Given the description of an element on the screen output the (x, y) to click on. 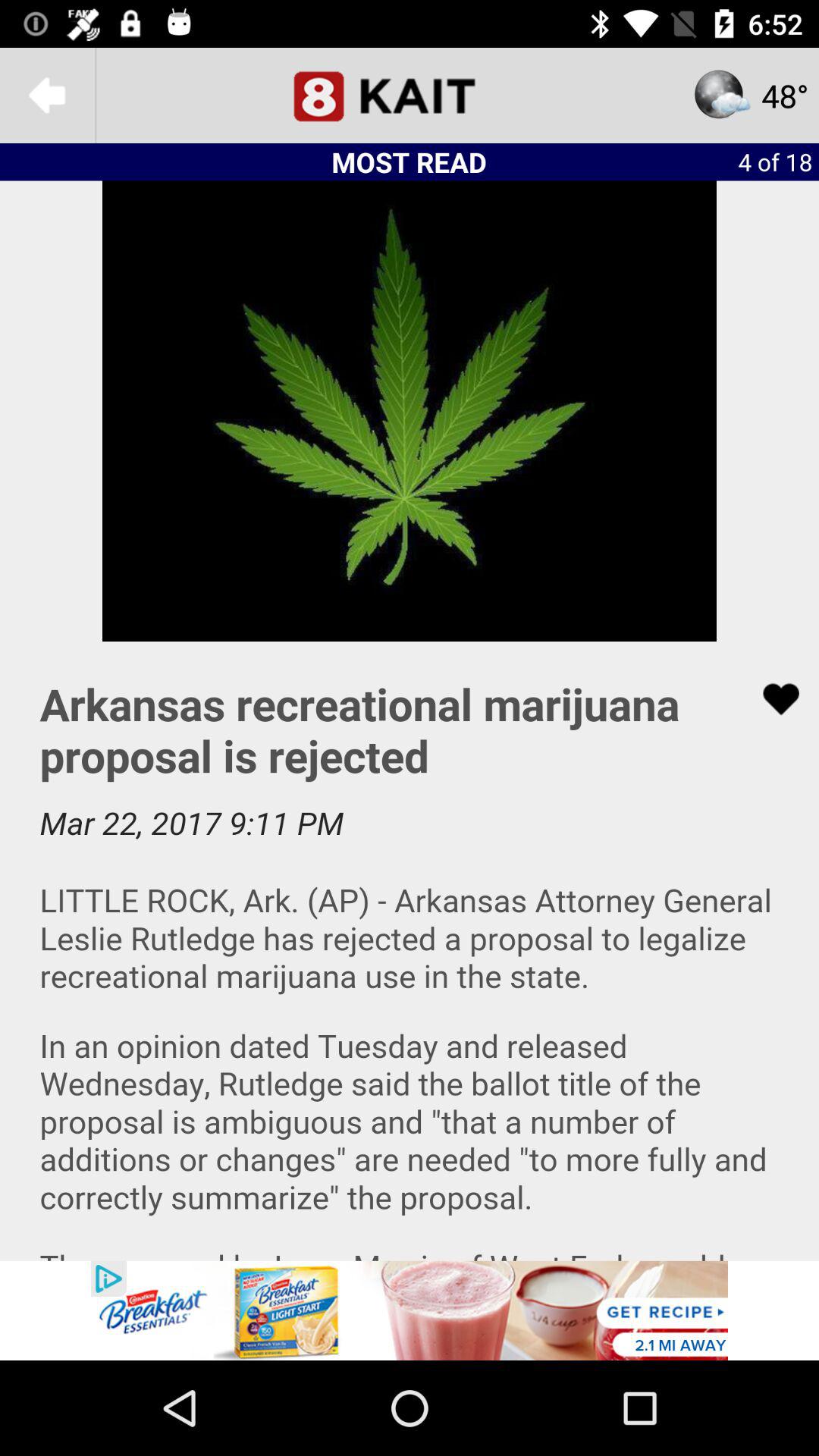
taitil page (409, 95)
